Given the description of an element on the screen output the (x, y) to click on. 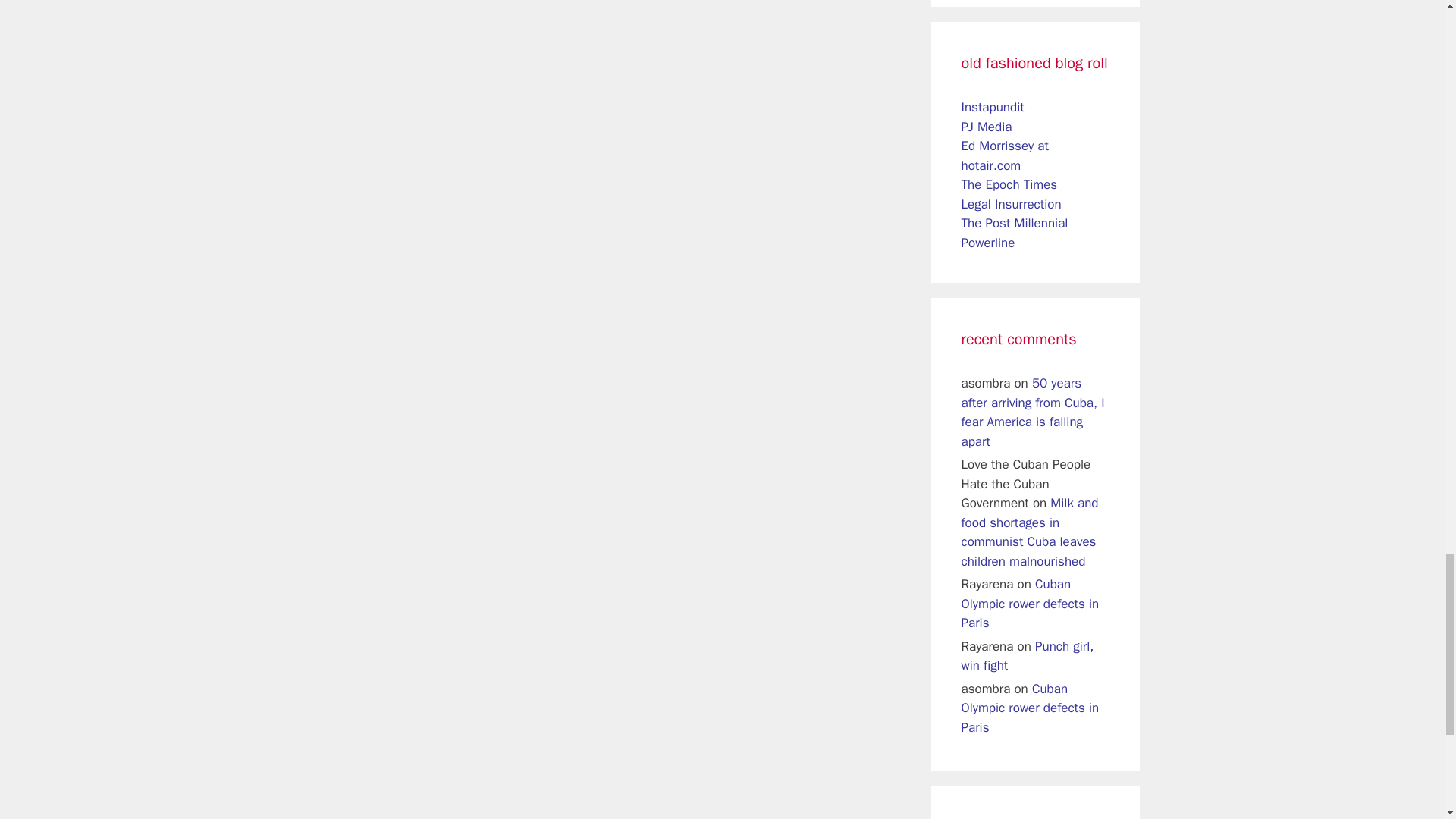
The Epoch Times (1009, 184)
Ed Morrissey at hotair.com (1004, 155)
PJ Media (985, 126)
Instapundit (992, 107)
The Post Millennial (1014, 222)
Legal Insurrection (1010, 204)
